Given the description of an element on the screen output the (x, y) to click on. 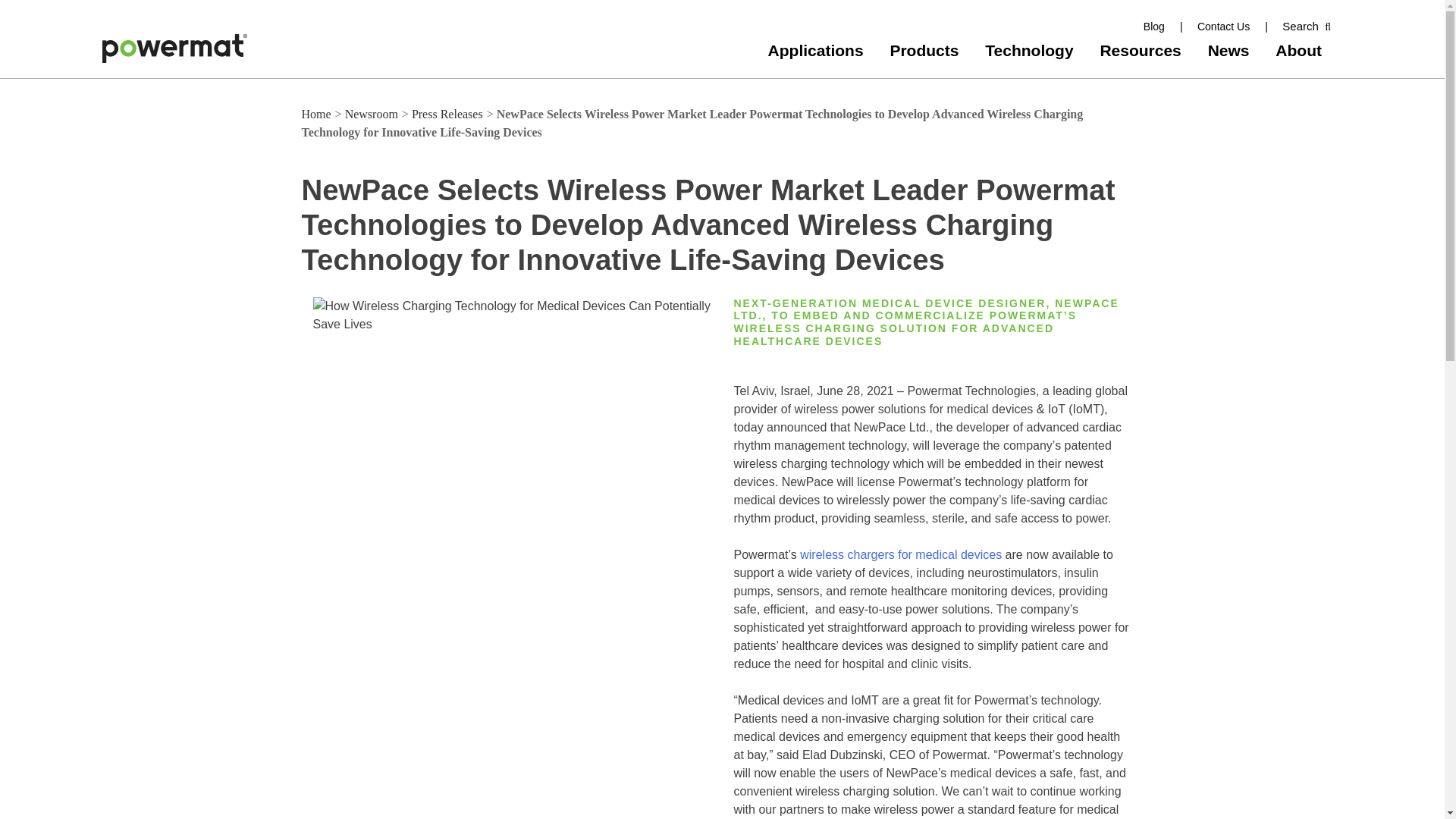
Technology (1027, 50)
wireless chargers for medical devices (898, 554)
Go to home. (317, 113)
Go to Newsroom. (373, 113)
Products (921, 50)
Resources (1138, 50)
About (1296, 50)
Newsroom (373, 113)
News (1226, 50)
Powermat (129, 71)
